Given the description of an element on the screen output the (x, y) to click on. 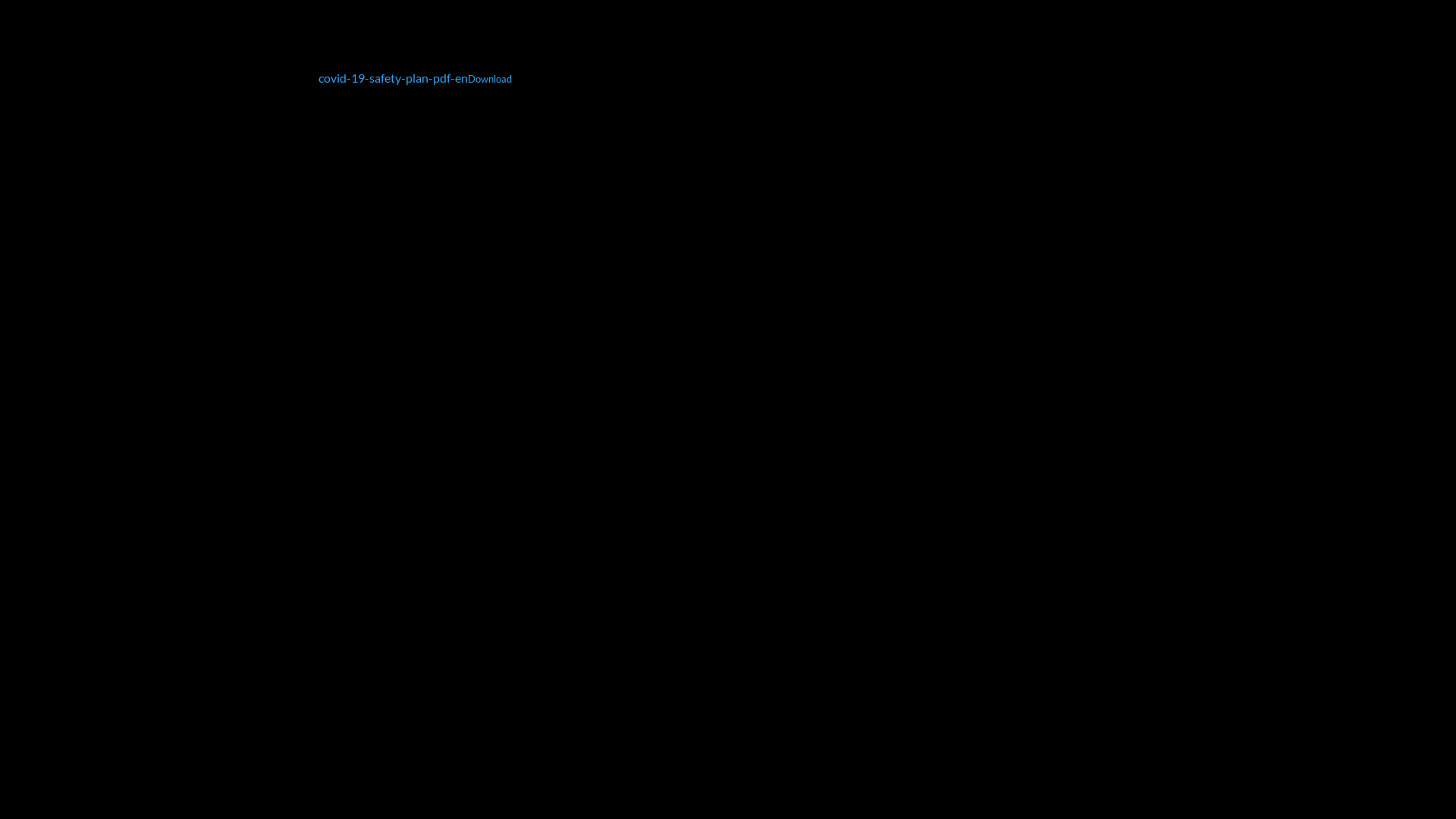
covid-19-safety-plan-pdf-en Element type: text (392, 81)
Download Element type: text (489, 82)
